Given the description of an element on the screen output the (x, y) to click on. 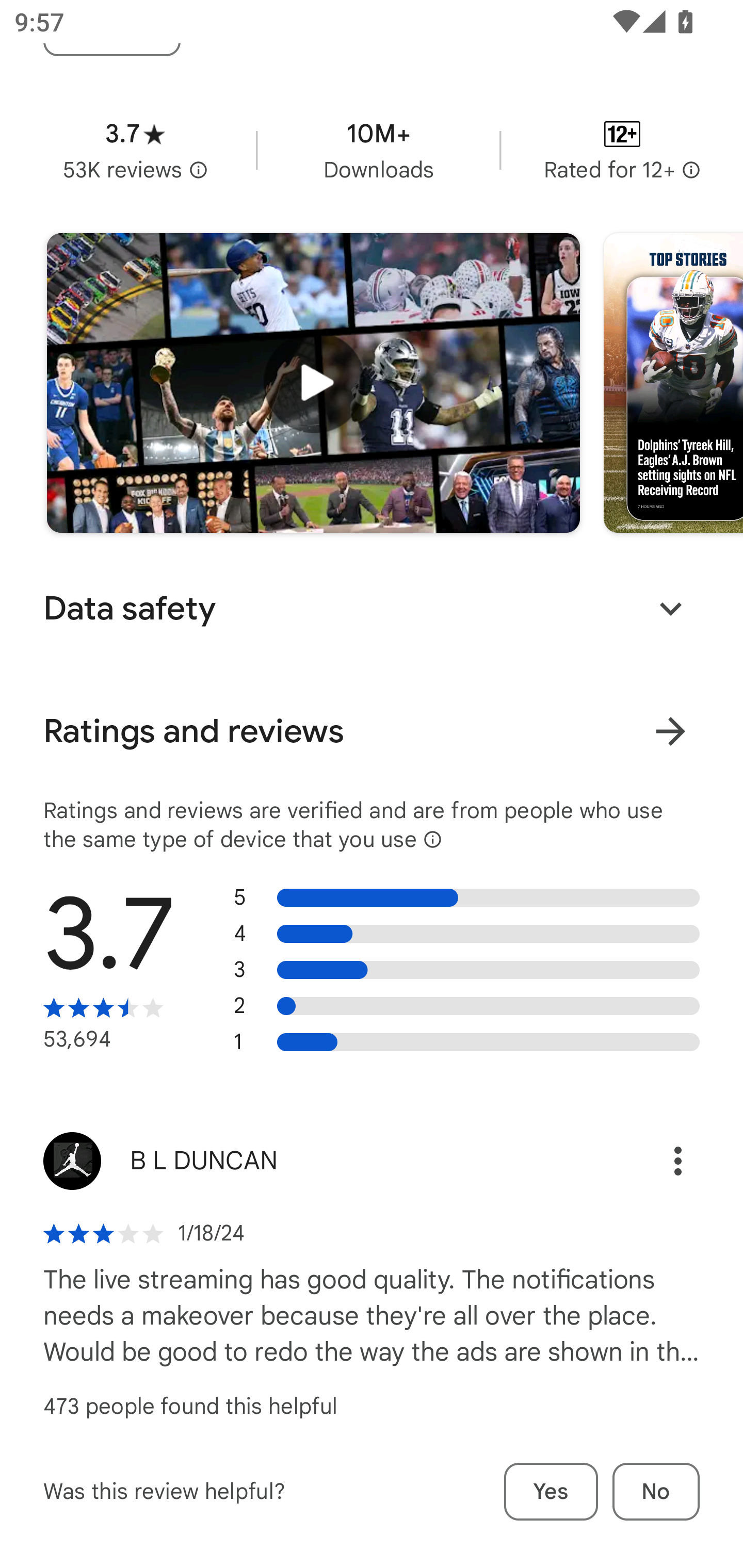
Average rating 3.7 stars in 53 thousand reviews (135, 150)
Content rating Rated for 12+ (622, 150)
Play trailer for "FOX Sports: Watch Live" (313, 383)
Data safety Expand (371, 608)
Expand (670, 609)
Ratings and reviews View all ratings and reviews (371, 731)
View all ratings and reviews (670, 731)
Options (655, 1160)
Yes (550, 1491)
No (655, 1491)
